Given the description of an element on the screen output the (x, y) to click on. 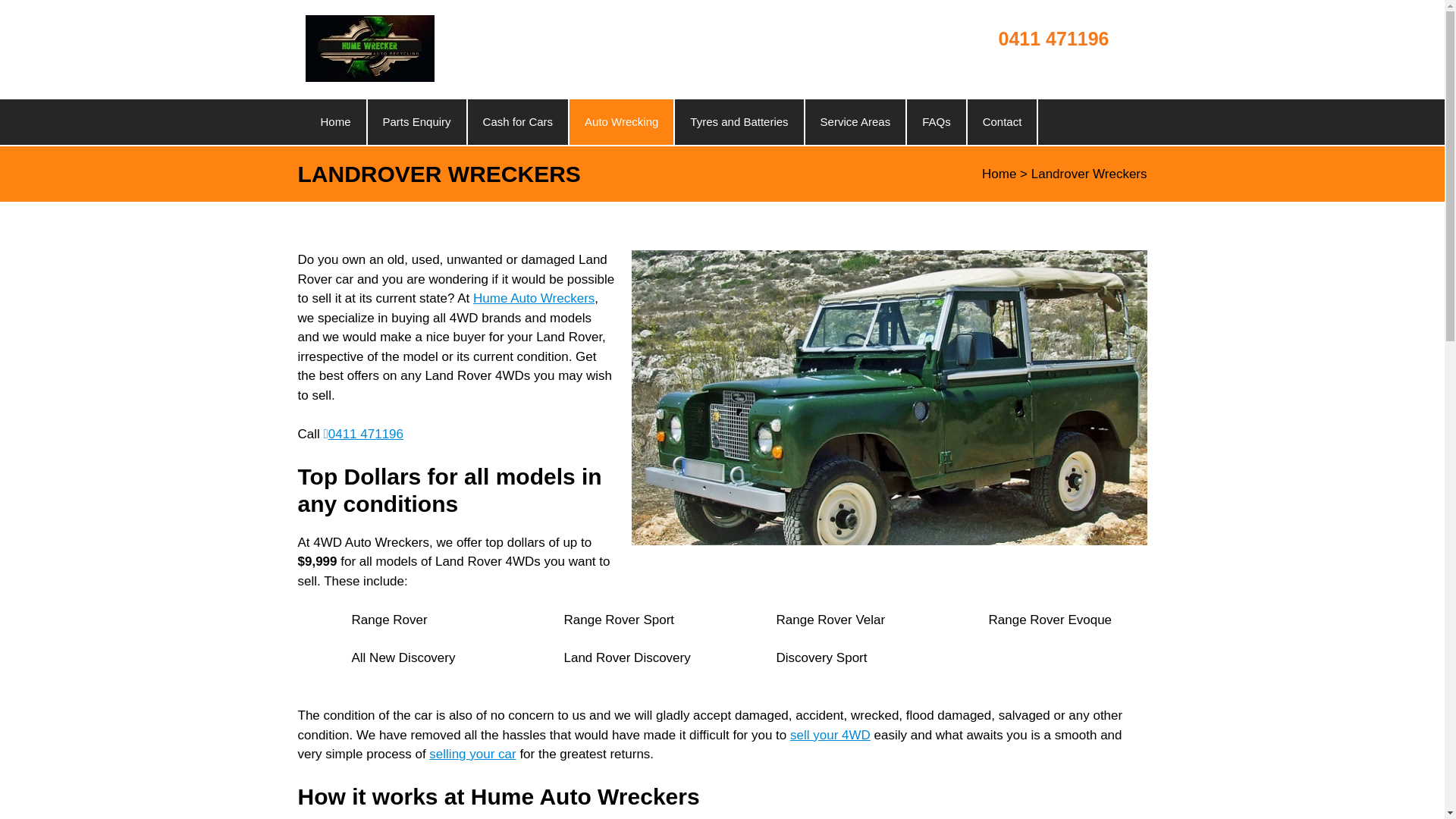
Hume Wreckers (368, 77)
Service Areas (855, 121)
0411 471196 (1038, 58)
Call 0411 471196 (1038, 58)
Cash for Cars (518, 121)
Home (334, 121)
Contact (1002, 121)
Home (334, 121)
Tyres and Batteries (739, 121)
sell your 4WD (830, 735)
